Given the description of an element on the screen output the (x, y) to click on. 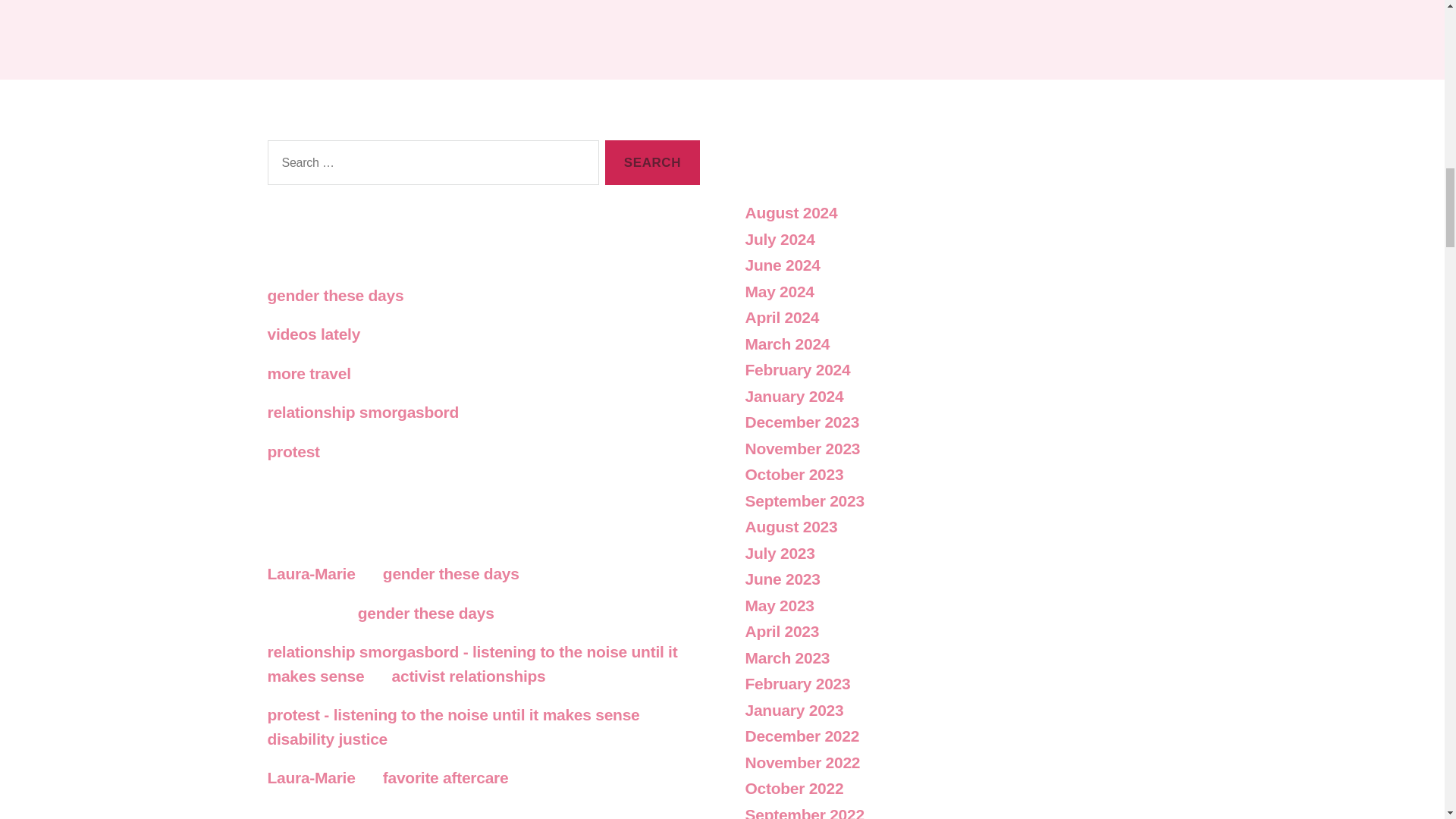
Search (651, 162)
Search (651, 162)
